Given the description of an element on the screen output the (x, y) to click on. 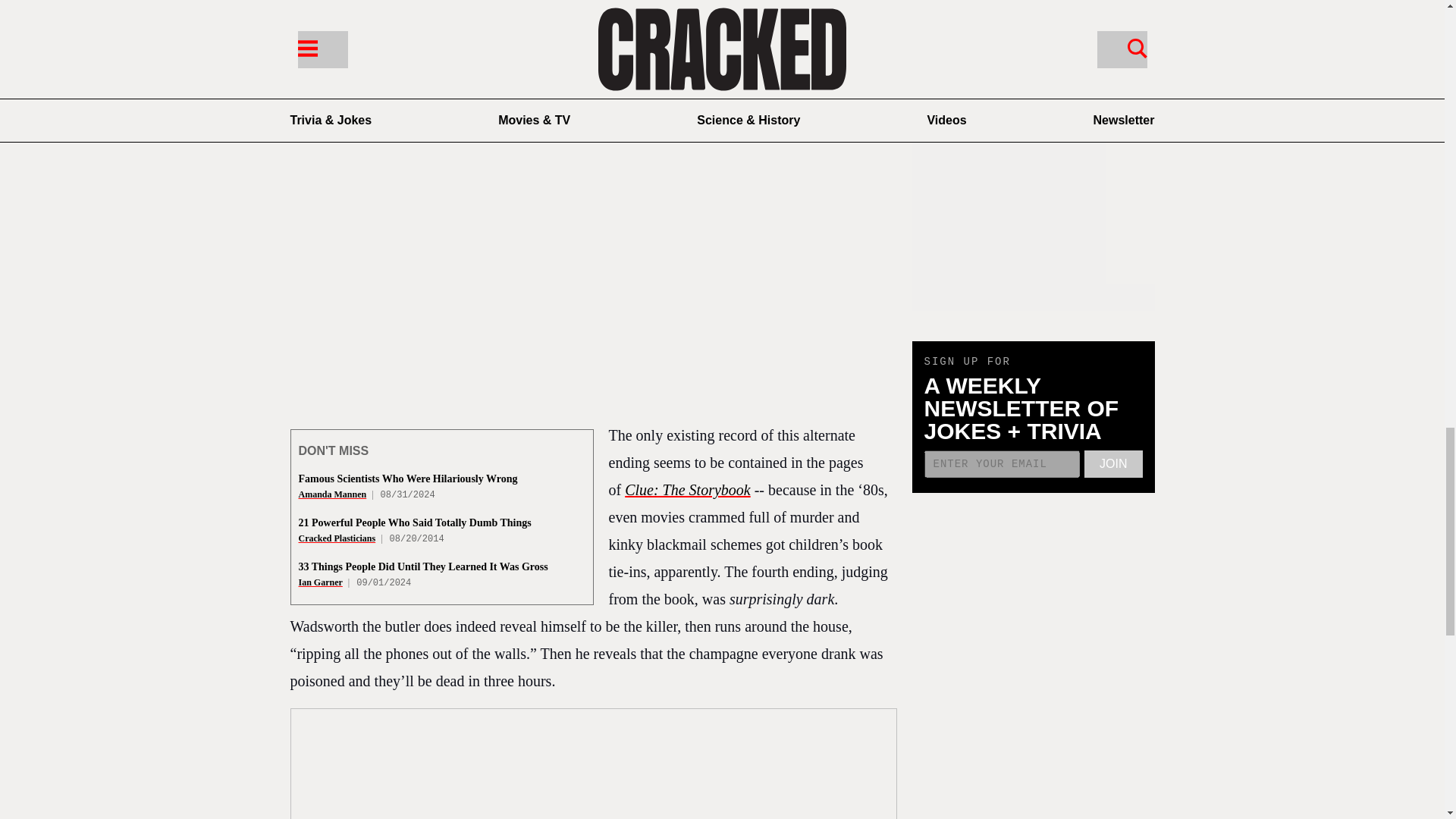
21 Powerful People Who Said Totally Dumb Things (414, 522)
Famous Scientists Who Were Hilariously Wrong (408, 478)
Amanda Mannen (332, 493)
Cracked Plasticians (336, 538)
